Given the description of an element on the screen output the (x, y) to click on. 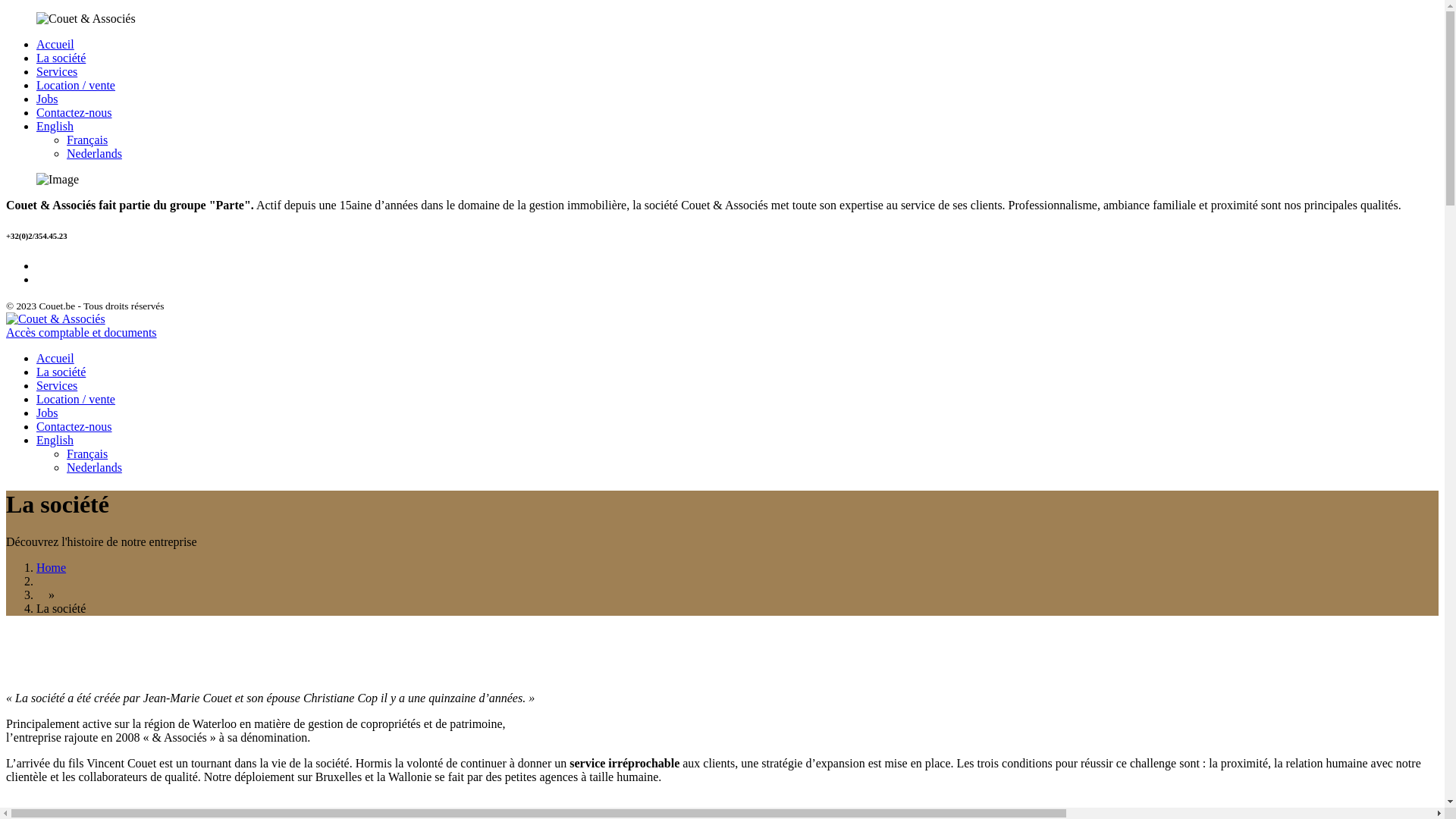
Contactez-nous Element type: text (74, 112)
Nederlands Element type: text (94, 467)
Home Element type: text (50, 567)
Jobs Element type: text (46, 98)
Accueil Element type: text (55, 43)
Accueil Element type: text (55, 357)
English Element type: text (54, 125)
Location / vente Element type: text (75, 84)
Contactez-nous Element type: text (74, 426)
Services Element type: text (56, 385)
Nederlands Element type: text (94, 153)
Services Element type: text (56, 71)
English Element type: text (54, 439)
Jobs Element type: text (46, 412)
Location / vente Element type: text (75, 398)
